Given the description of an element on the screen output the (x, y) to click on. 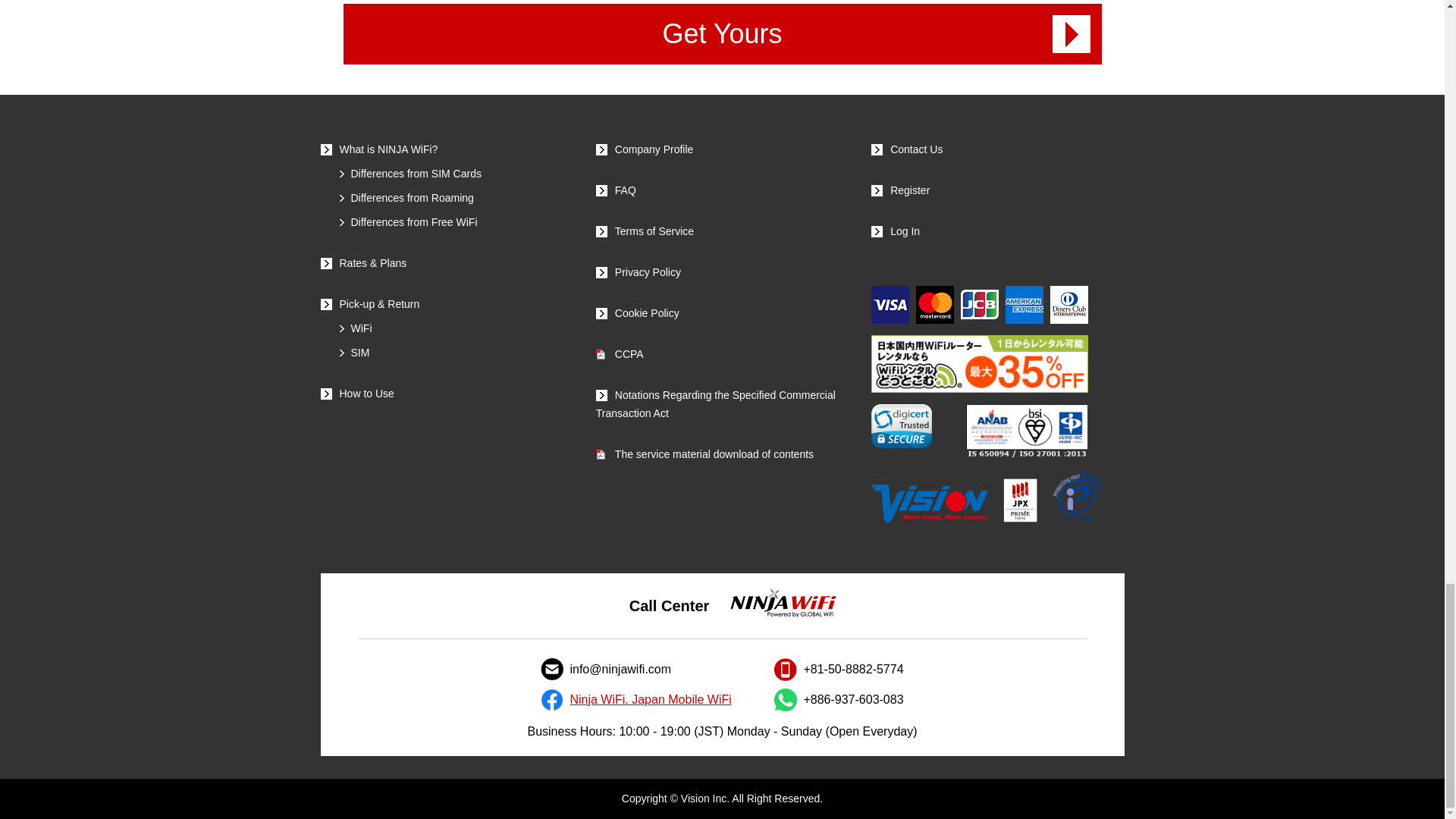
Contact Us (906, 149)
FAQ (615, 190)
WiFi (355, 328)
Get Yours (721, 34)
Privacy Policy (638, 272)
Differences from Free WiFi (408, 222)
CCPA (619, 354)
Differences from SIM Cards (410, 173)
Differences from Roaming (406, 197)
Ninja WiFi. Japan Mobile WiFi (649, 700)
Notations Regarding the Specified Commercial Transaction Act (715, 404)
Company Profile (644, 149)
The service material download of contents (704, 453)
Log In (895, 231)
Terms of Service (644, 231)
